Given the description of an element on the screen output the (x, y) to click on. 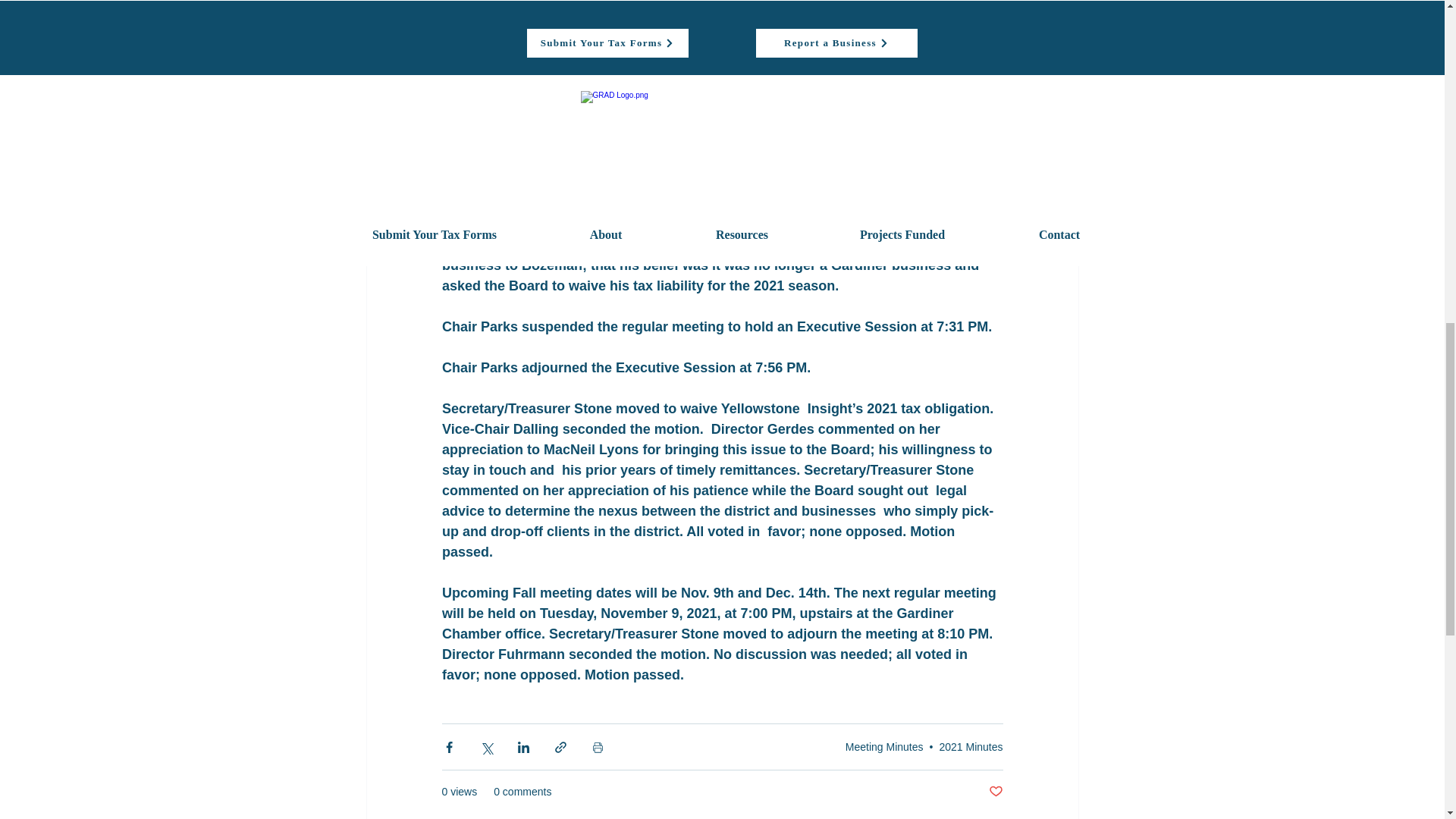
Post not marked as liked (995, 791)
Meeting Minutes (884, 746)
2021 Minutes (971, 746)
